Given the description of an element on the screen output the (x, y) to click on. 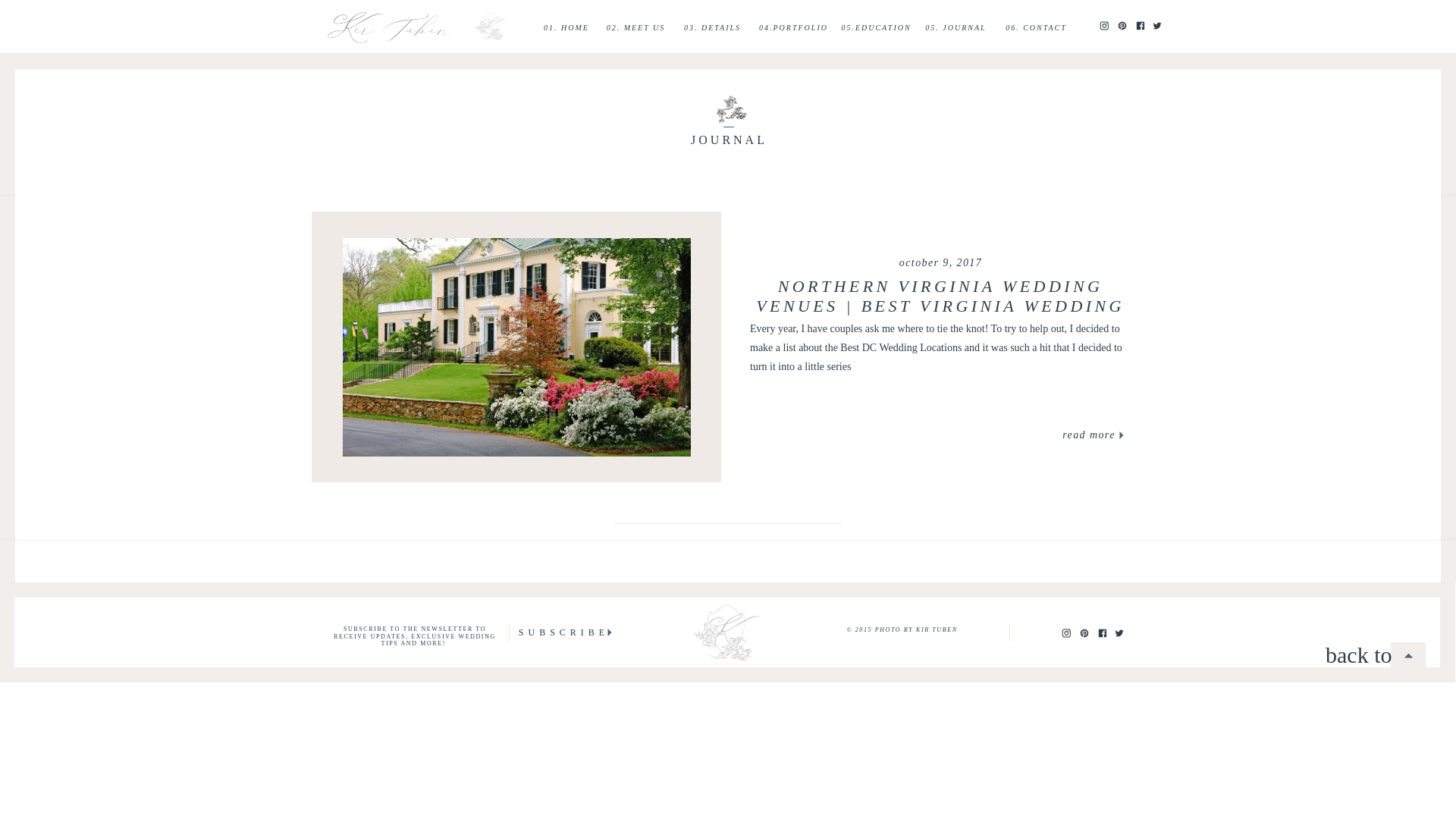
01. HOME (566, 27)
Facebook Copy-color Created with Sketch. (1101, 632)
06. CONTACT (1035, 27)
Instagram-color Created with Sketch. (1065, 633)
back to top (1363, 653)
03. DETAILS (712, 27)
Facebook Copy-color Created with Sketch. (1139, 24)
04.PORTFOLIO (793, 27)
Instagram-color Created with Sketch. (1103, 24)
read more (1088, 436)
Facebook Copy-color Created with Sketch. (1139, 25)
Instagram-color Created with Sketch. (1065, 632)
Facebook Copy-color Created with Sketch. (1101, 633)
02. MEET US (635, 27)
SUBSCRIBE (563, 632)
